Given the description of an element on the screen output the (x, y) to click on. 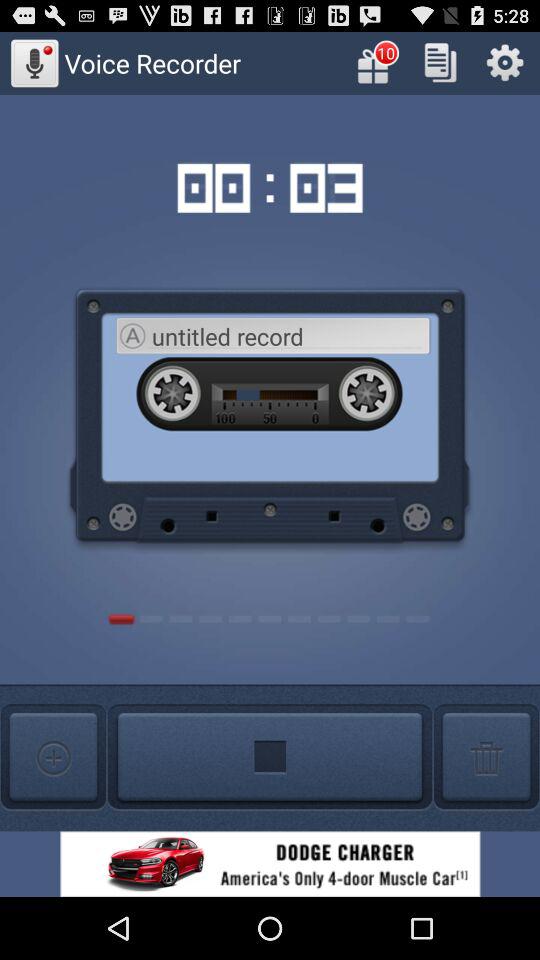
create new recording (53, 757)
